Given the description of an element on the screen output the (x, y) to click on. 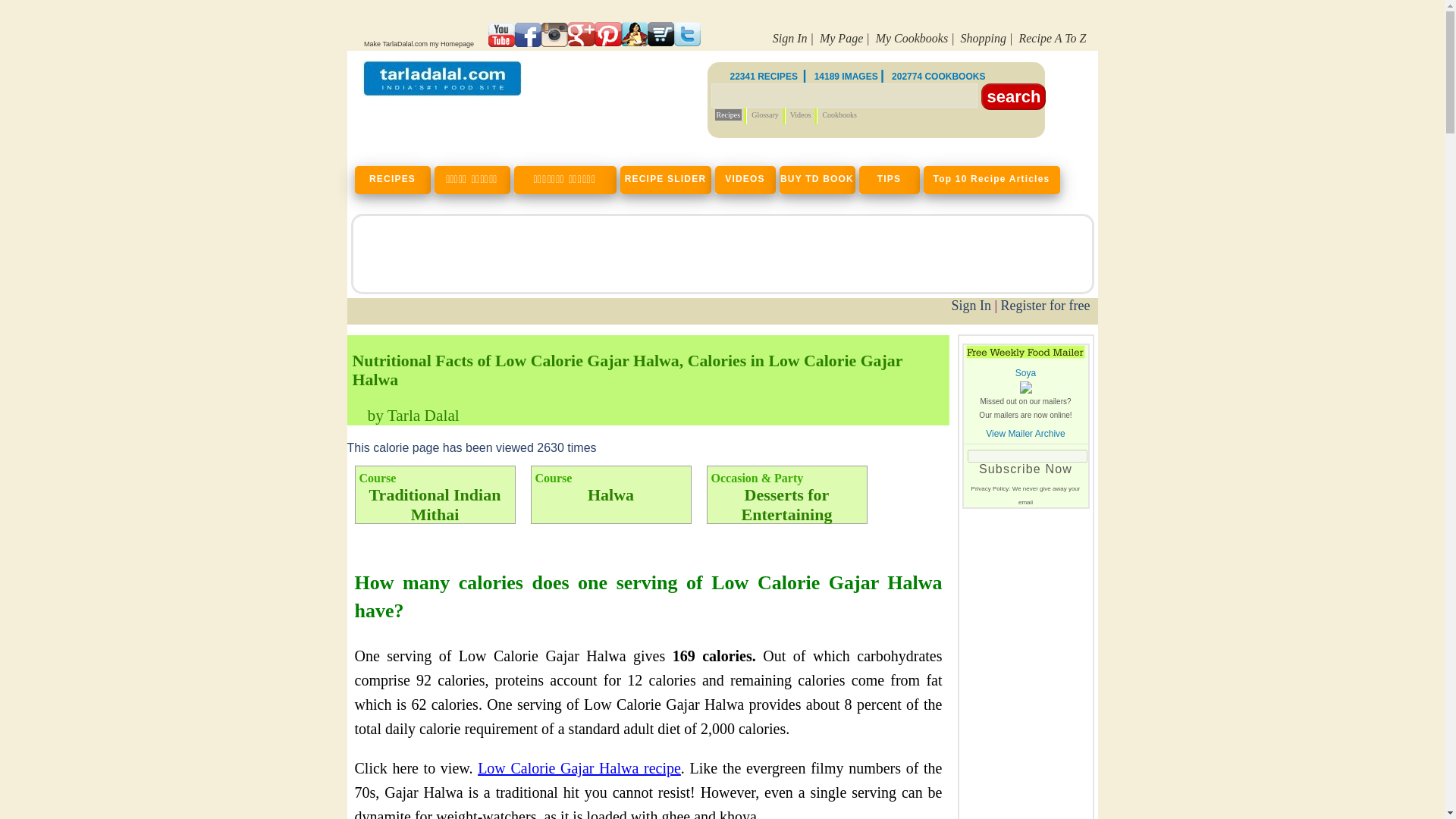
View your favorite recipes in Hindi (473, 178)
Shopping (983, 38)
Watch videos of your favorite Tarla Dalal recipes (746, 178)
View counts since 26 Sep 2010 (471, 447)
Sign In (790, 38)
View your cookbooks (912, 38)
Shop for books by Tarla Dalal (983, 38)
Recipe A To Z (1051, 38)
New visitors can sign up for a free membership account (1045, 305)
Recipea A to Z (1051, 38)
View your favorite recipes in Gujarati (566, 178)
Glossary (764, 114)
GoTo Home Page (441, 91)
Recipes (727, 114)
Buy cookbooks by Tarla Dalal (818, 178)
